Given the description of an element on the screen output the (x, y) to click on. 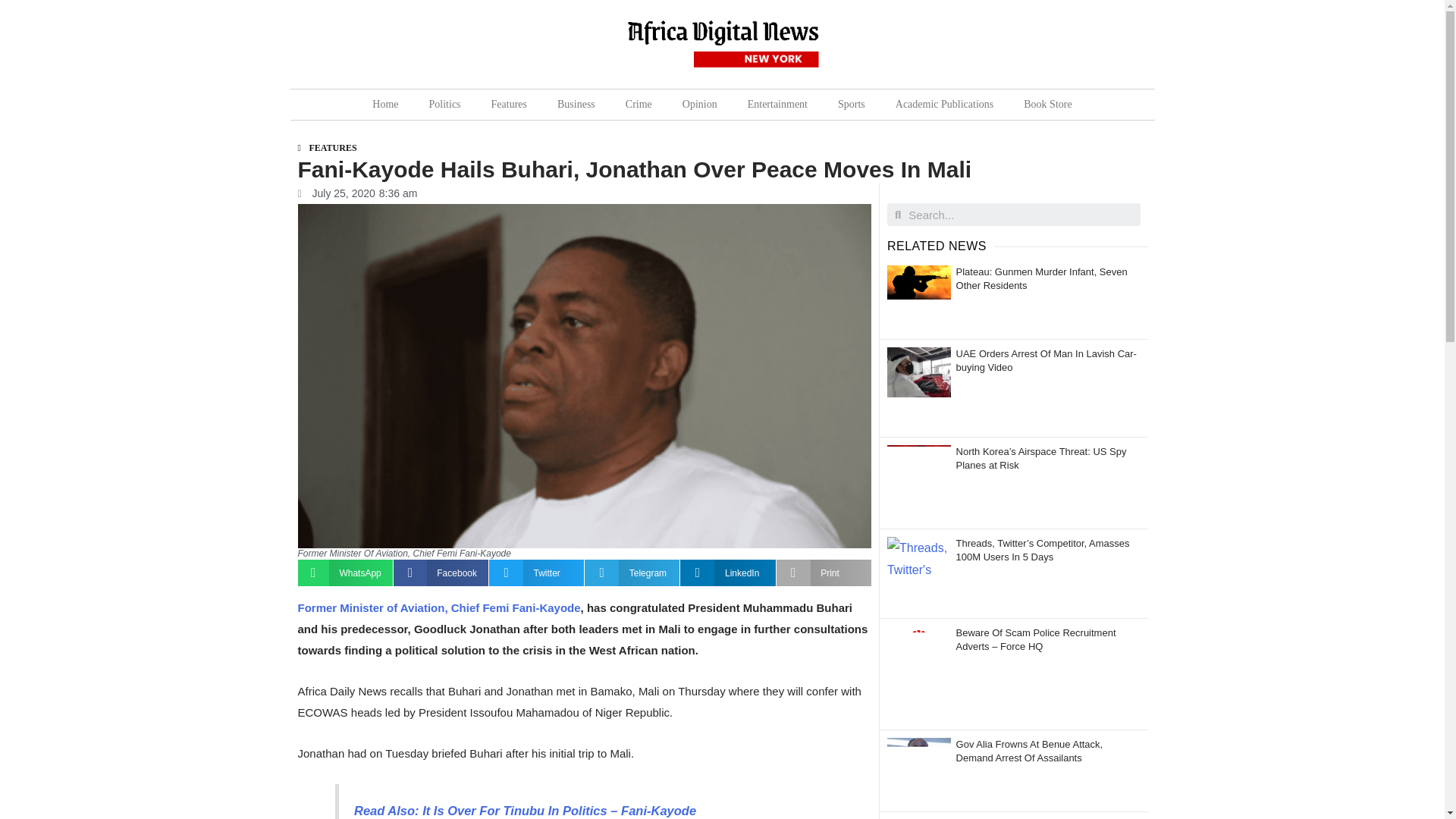
FEATURES (332, 147)
Entertainment (777, 104)
Search (1020, 214)
Home (384, 104)
July 25, 2020 (335, 193)
Plateau: Gunmen Murder Infant, Seven Other Residents (1041, 278)
Book Store (1047, 104)
Features (508, 104)
Crime (638, 104)
Business (575, 104)
